Given the description of an element on the screen output the (x, y) to click on. 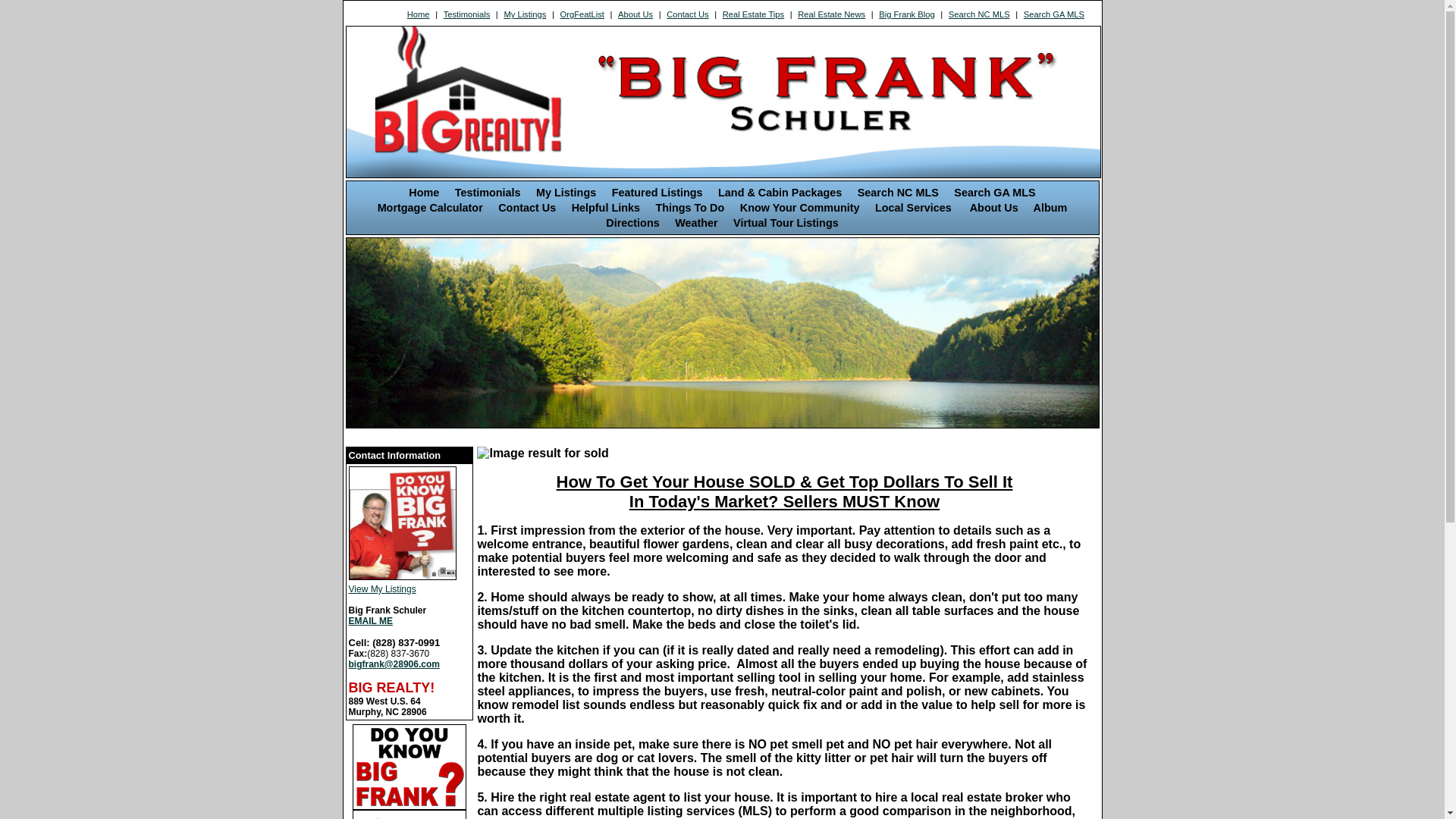
Search NC MLS Element type: text (978, 13)
Home Element type: text (417, 13)
My Listings Element type: text (566, 192)
Helpful Links Element type: text (605, 207)
1740 Element type: hover (402, 523)
Contact Us Element type: text (526, 207)
Land & Cabin Packages Element type: text (779, 192)
Local Services Element type: text (914, 207)
Big Frank Blog Element type: text (906, 13)
Testimonials Element type: text (487, 192)
Virtual Tour Listings Element type: text (785, 222)
Real Estate Tips Element type: text (752, 13)
View My Listings Element type: text (409, 561)
Weather Element type: text (696, 222)
Contact Us Element type: text (687, 13)
bigfrank@28906.com Element type: text (393, 663)
OrgFeatList Element type: text (581, 13)
Featured Listings Element type: text (656, 192)
About Us Element type: text (635, 13)
Directions Element type: text (631, 222)
Search NC MLS Element type: text (897, 192)
Testimonials Element type: text (466, 13)
About Us Element type: text (993, 207)
EMAIL ME Element type: text (370, 620)
Mortgage Calculator Element type: text (430, 207)
My Listings Element type: text (524, 13)
Home Element type: text (423, 192)
Album Element type: text (1050, 207)
Search GA MLS Element type: text (994, 192)
Things To Do Element type: text (689, 207)
Know Your Community Element type: text (799, 207)
Real Estate News Element type: text (831, 13)
Search GA MLS Element type: text (1053, 13)
